Given the description of an element on the screen output the (x, y) to click on. 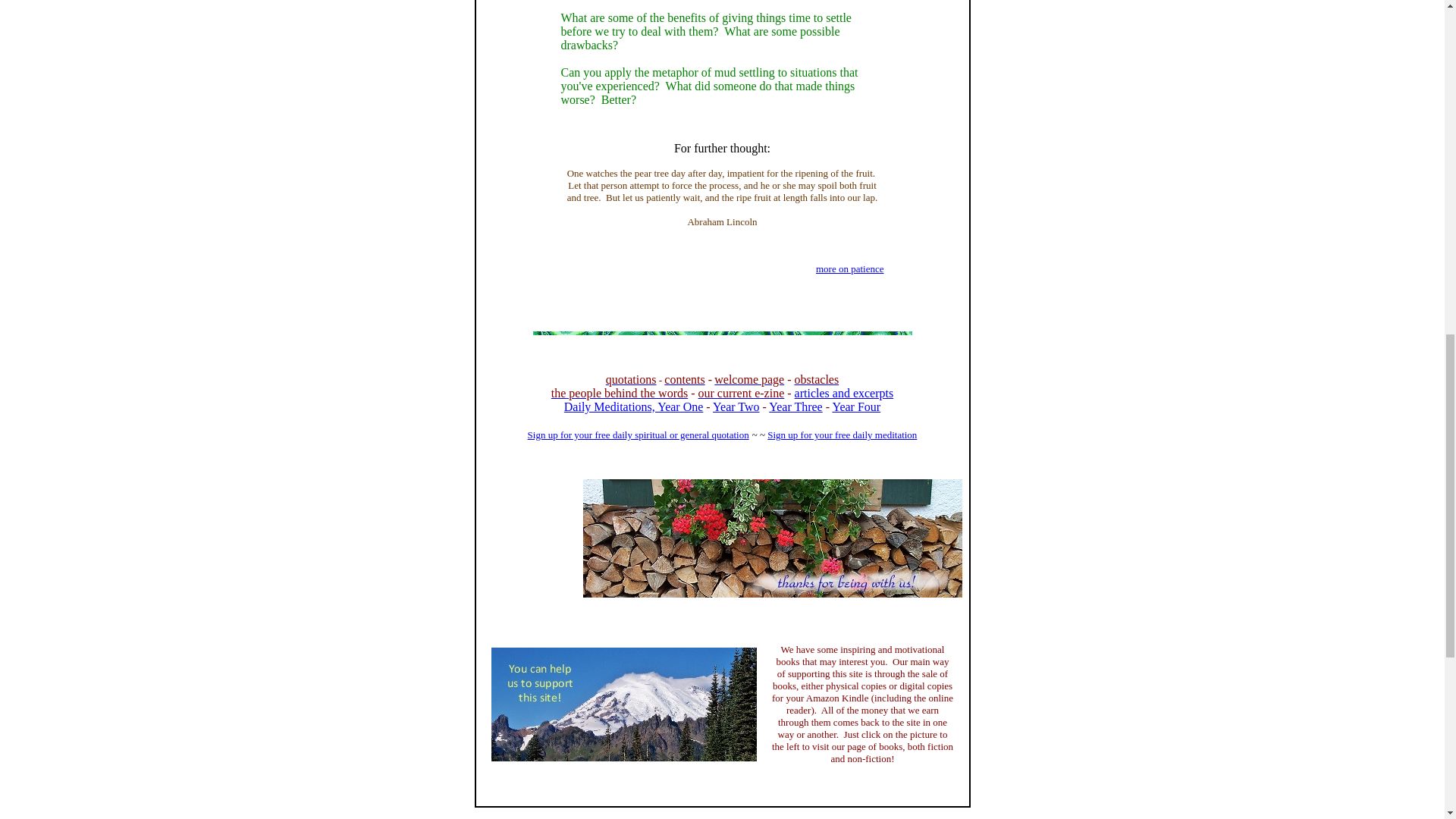
the people behind the words (619, 392)
quotations (630, 379)
our current e-zine (741, 392)
obstacles (817, 379)
contents (683, 379)
Year Three (795, 406)
Year Two (735, 406)
Year Four (855, 406)
more on patience (849, 268)
welcome page (749, 379)
Daily Meditations, Year One (633, 406)
articles and excerpts (843, 392)
Sign up for your free daily meditation (842, 434)
Sign up for your free daily spiritual or general quotation (638, 440)
